Given the description of an element on the screen output the (x, y) to click on. 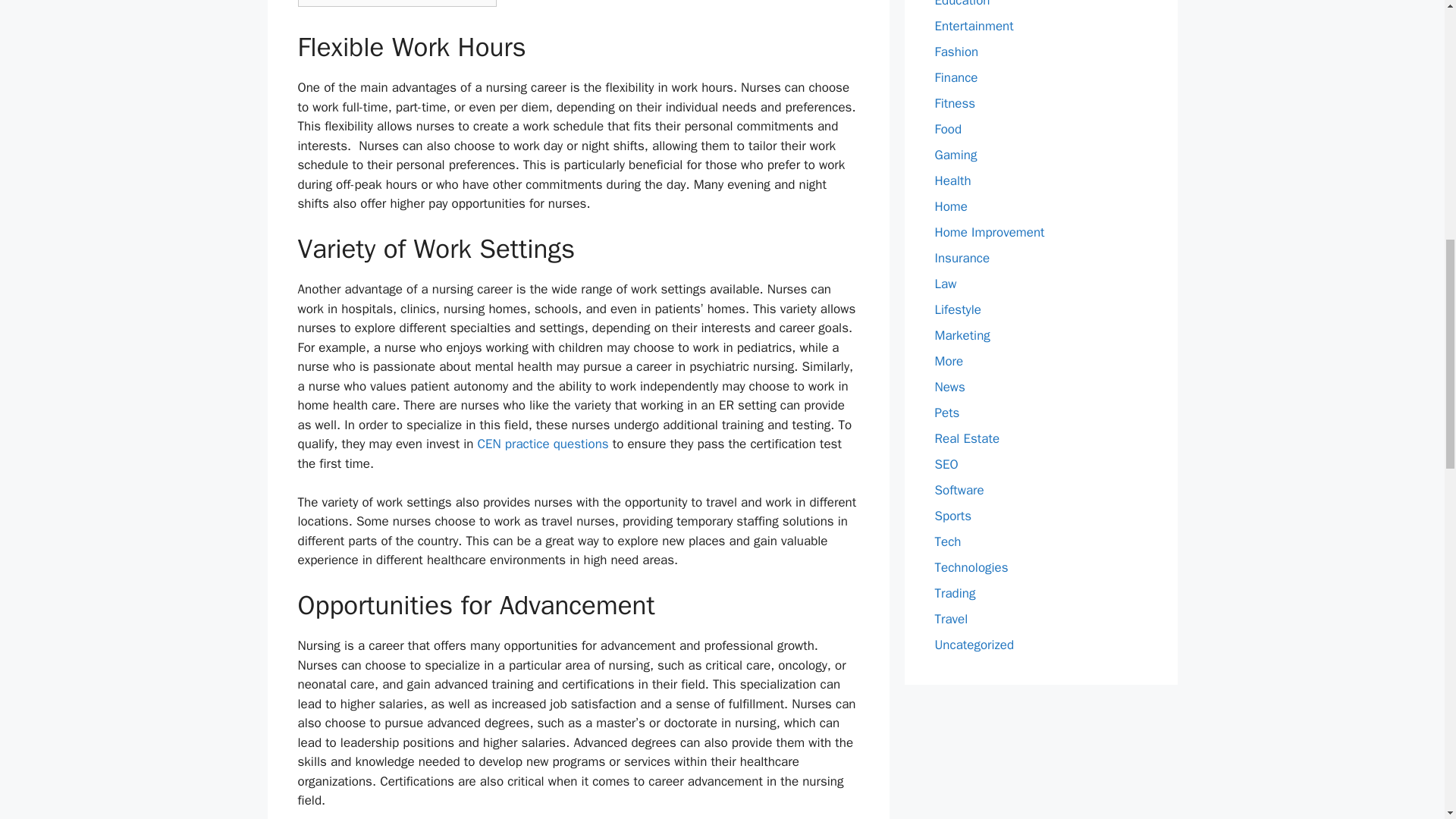
CEN practice questions (542, 443)
